Given the description of an element on the screen output the (x, y) to click on. 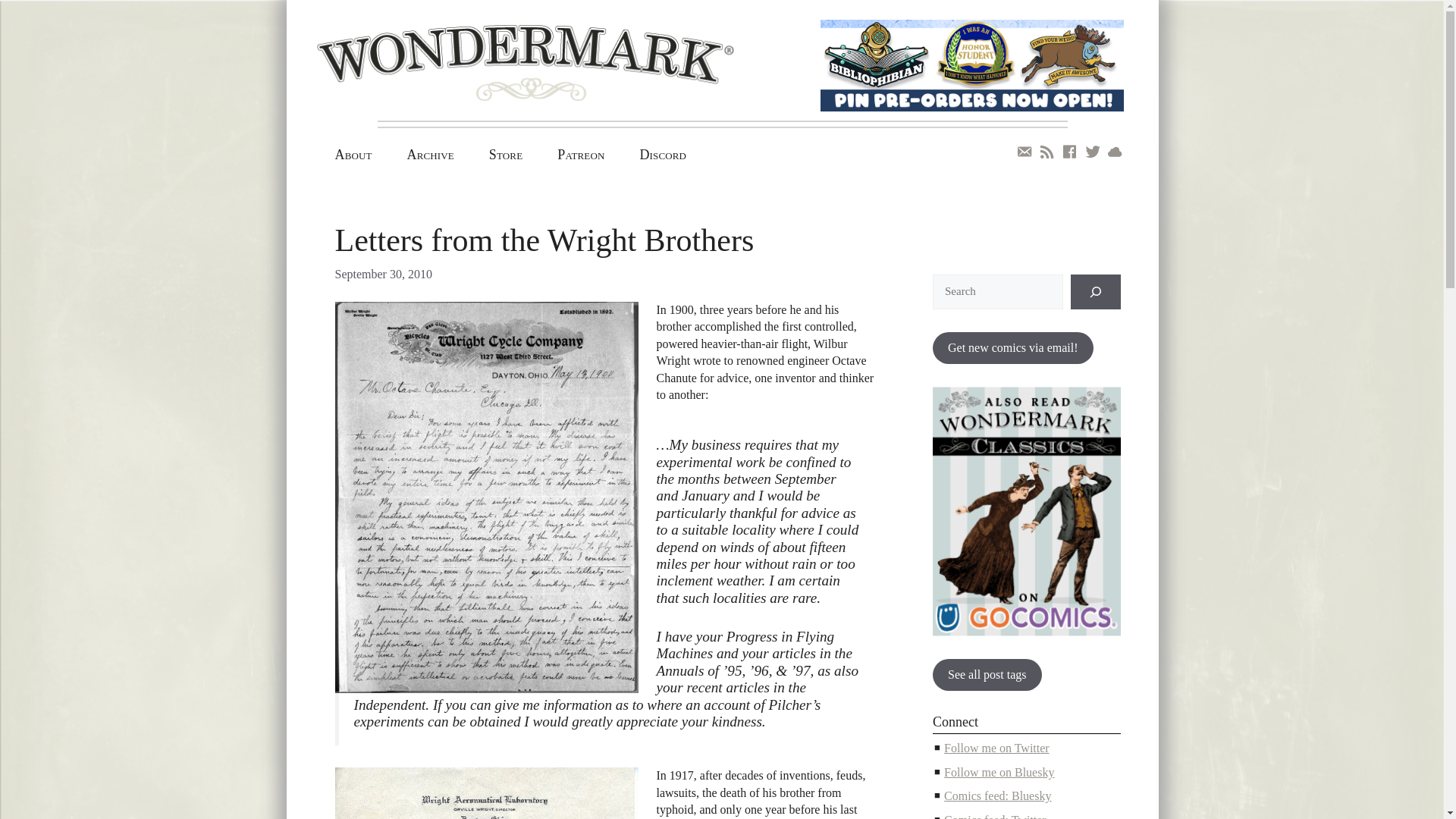
Store (505, 154)
Newsletter (1024, 152)
Discord (662, 154)
topbanner-pintopia3 (972, 65)
oh orvy (486, 793)
Archive (430, 154)
Follow me on Twitter (996, 748)
Patreon (580, 154)
Twt (1092, 152)
See all post tags (987, 675)
